Given the description of an element on the screen output the (x, y) to click on. 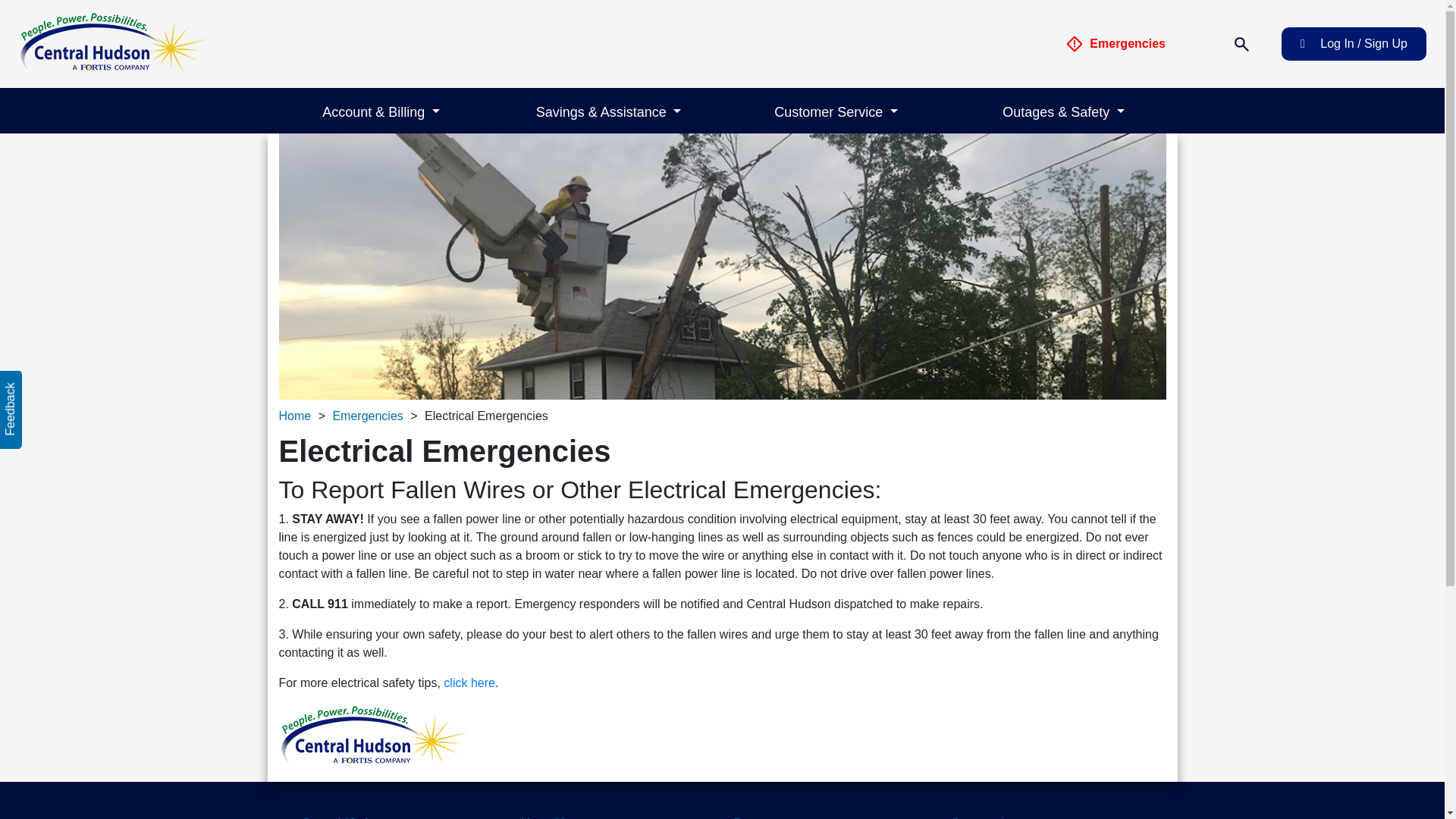
Customer Service (835, 110)
Search (1240, 42)
Emergencies Emergencies (1115, 44)
Central Hudson Logo (112, 42)
Emergencies (1074, 44)
Search (1240, 44)
